Given the description of an element on the screen output the (x, y) to click on. 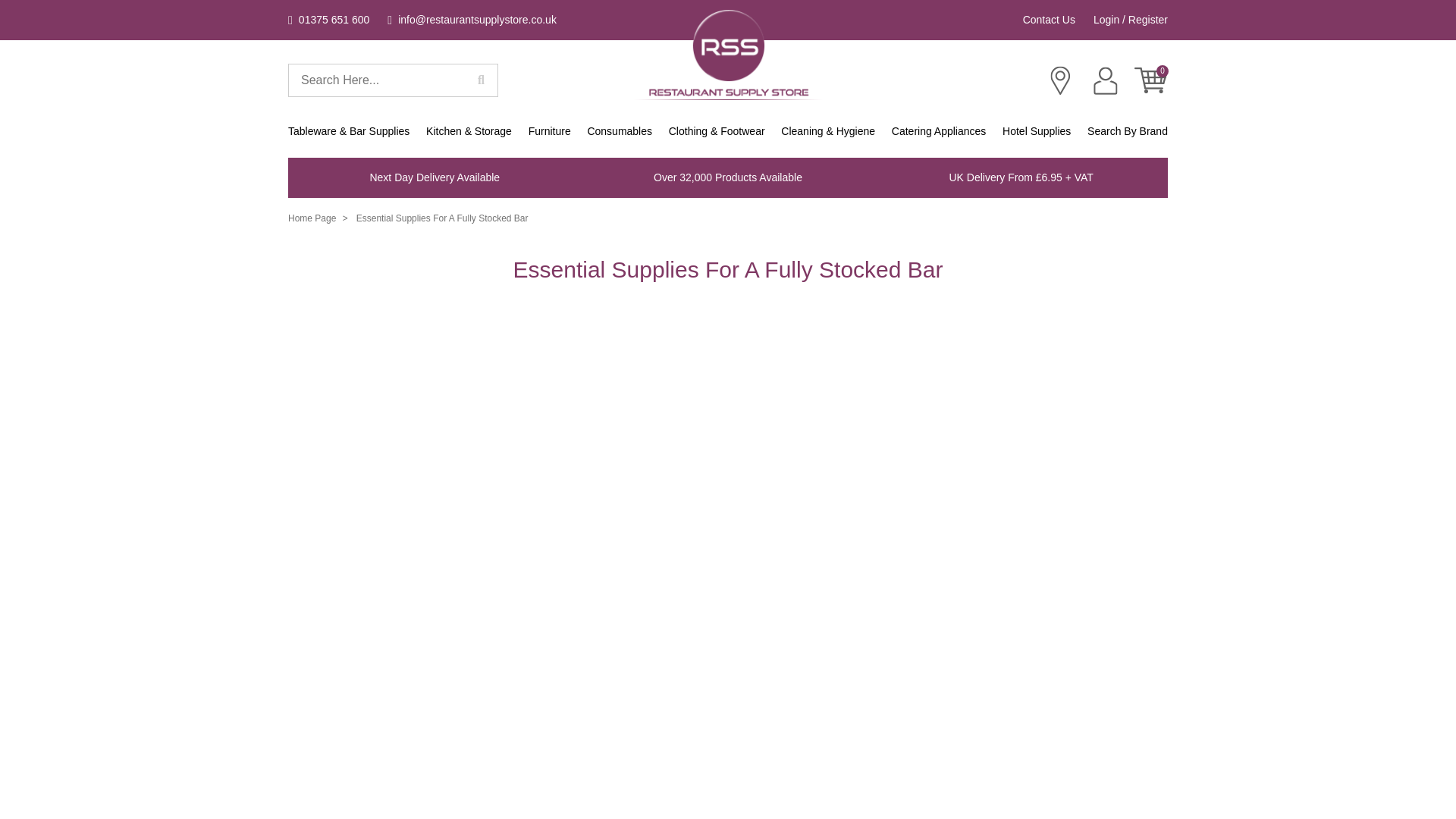
Contact Us (1060, 80)
Home Page (727, 54)
Contact Us (1049, 19)
01375 651 600 (328, 19)
Catering Appliances (939, 131)
0 (1150, 80)
Contact Us (1049, 19)
Search By Brand (1127, 131)
Items in my bag 0 (1150, 80)
Consumables (619, 131)
